Given the description of an element on the screen output the (x, y) to click on. 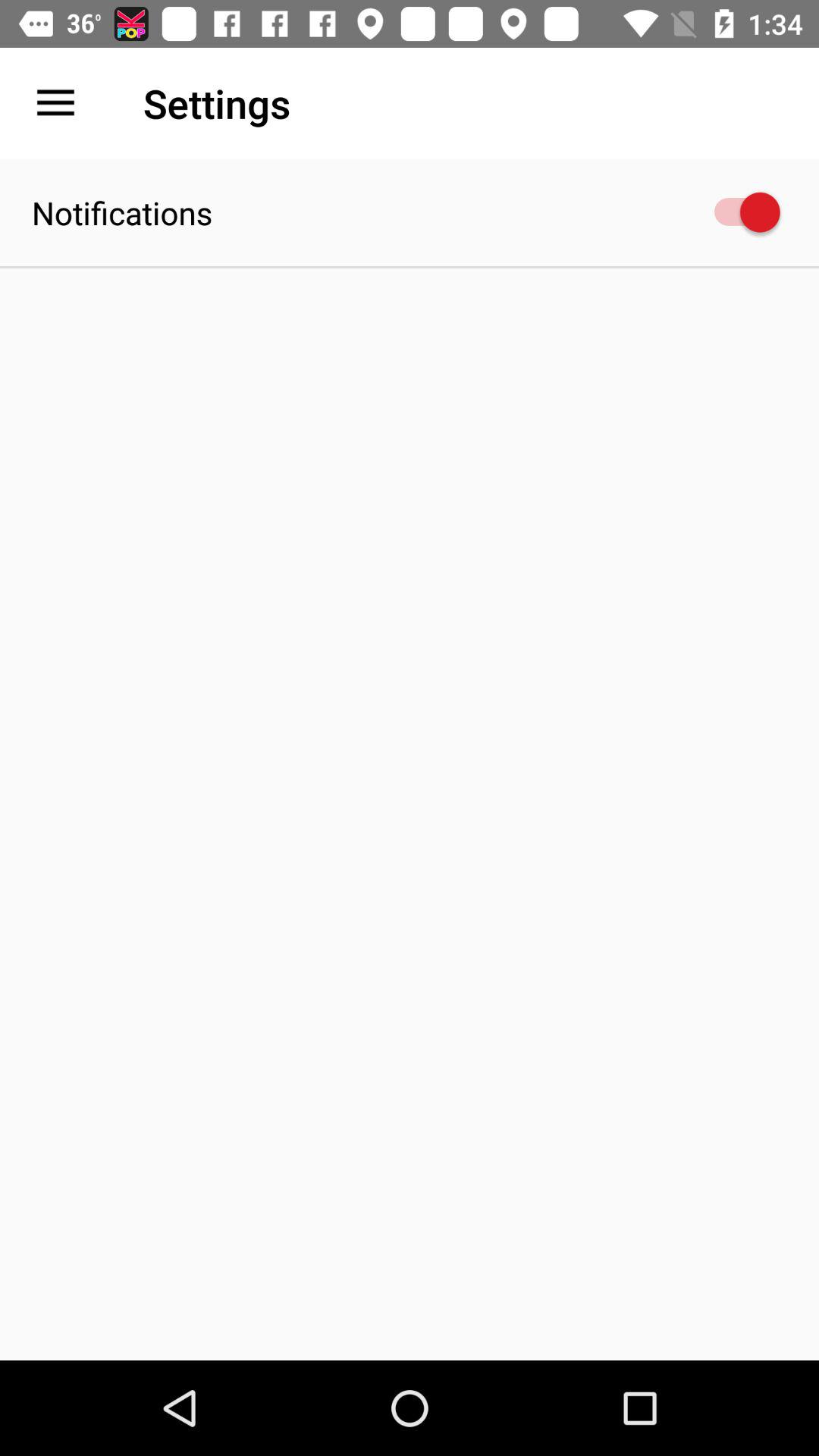
jump until notifications item (121, 212)
